Given the description of an element on the screen output the (x, y) to click on. 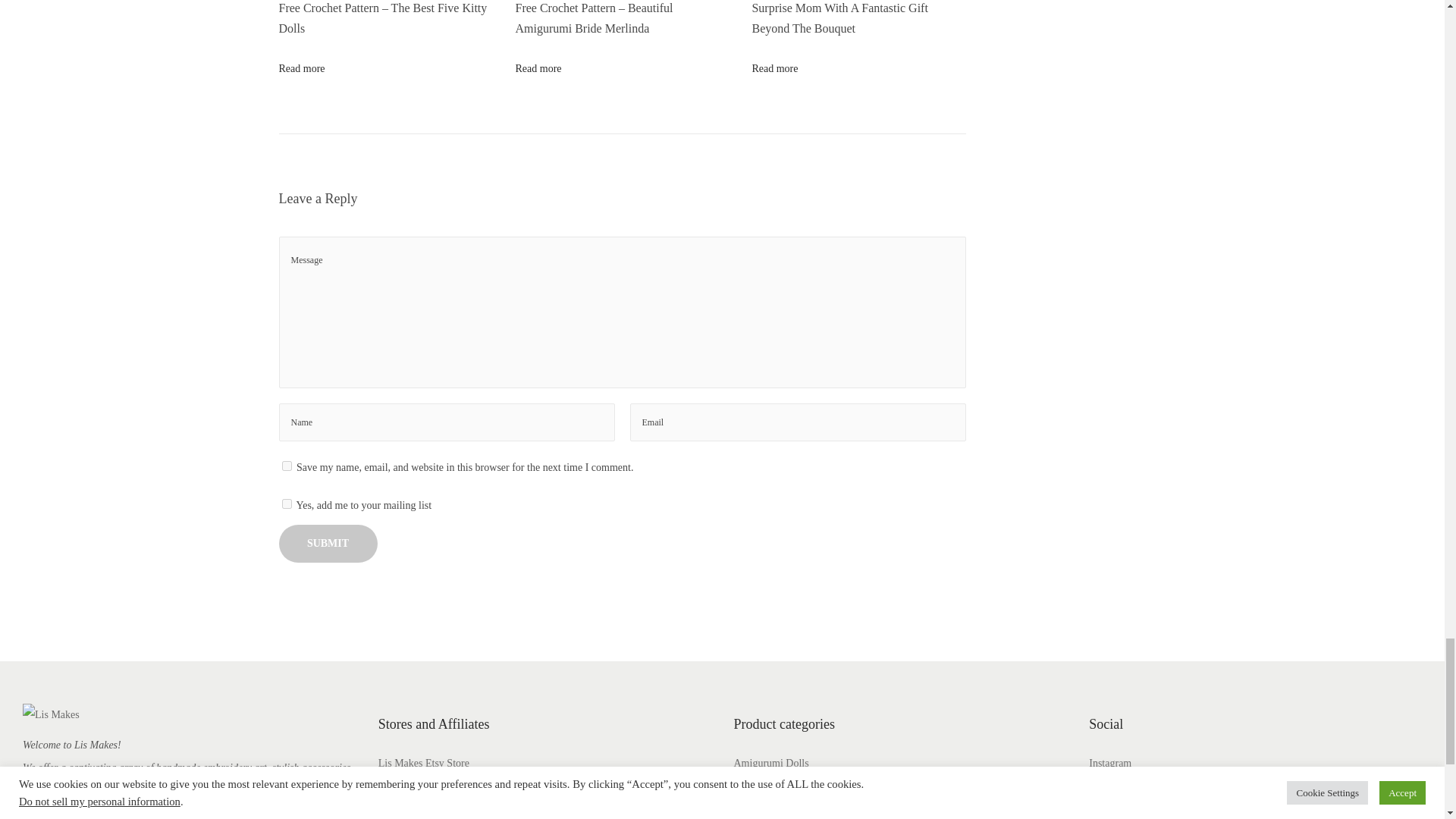
Submit (328, 543)
yes (287, 465)
1 (287, 503)
